Given the description of an element on the screen output the (x, y) to click on. 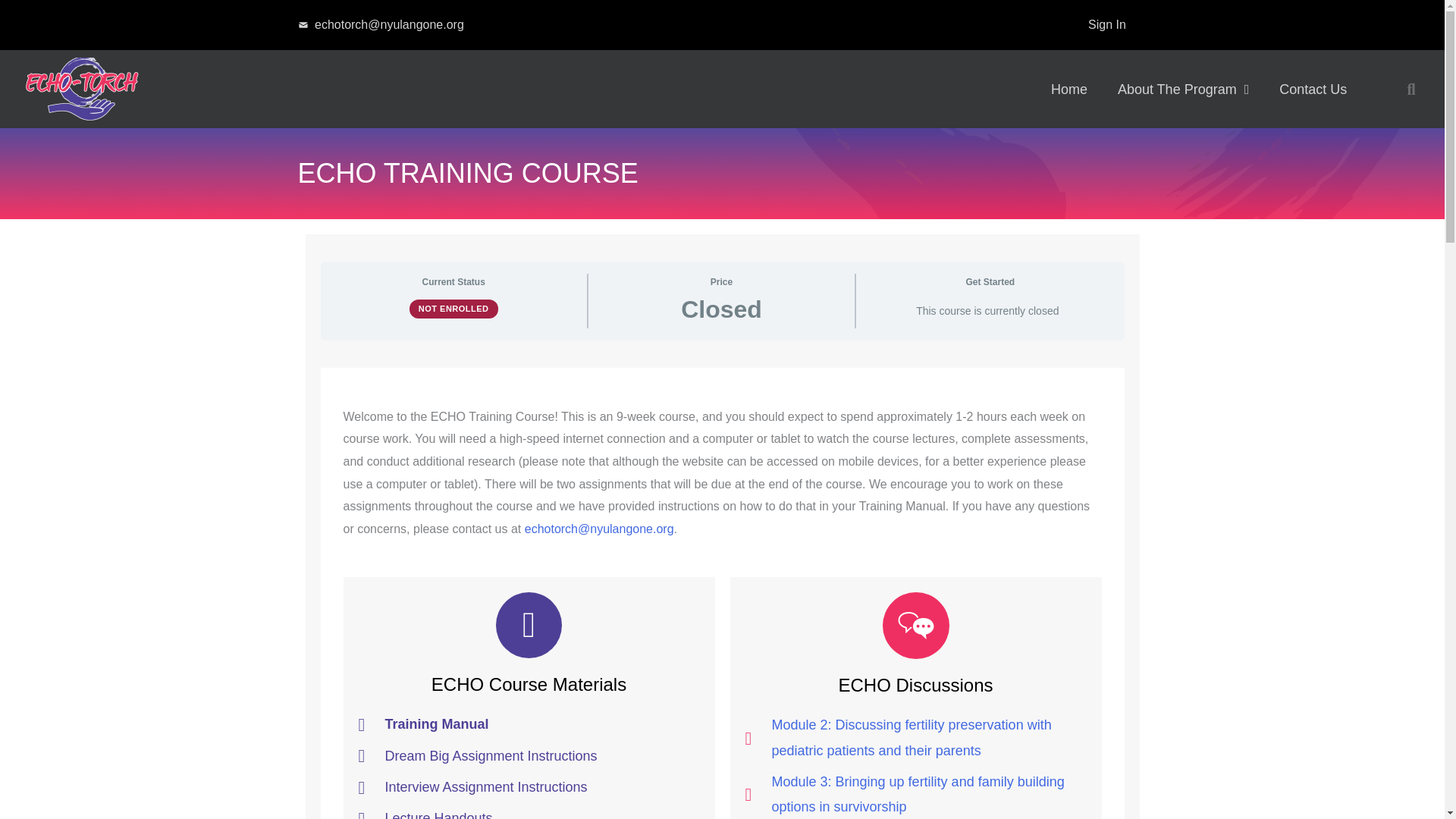
Sign In (1107, 24)
Lecture Handouts (528, 812)
Interview Assignment Instructions (528, 787)
About The Program (1182, 89)
echo-torch-flat-wht-outline (81, 88)
Dream Big Assignment Instructions (528, 756)
Contact Us (1312, 89)
Training Manual (528, 724)
